Given the description of an element on the screen output the (x, y) to click on. 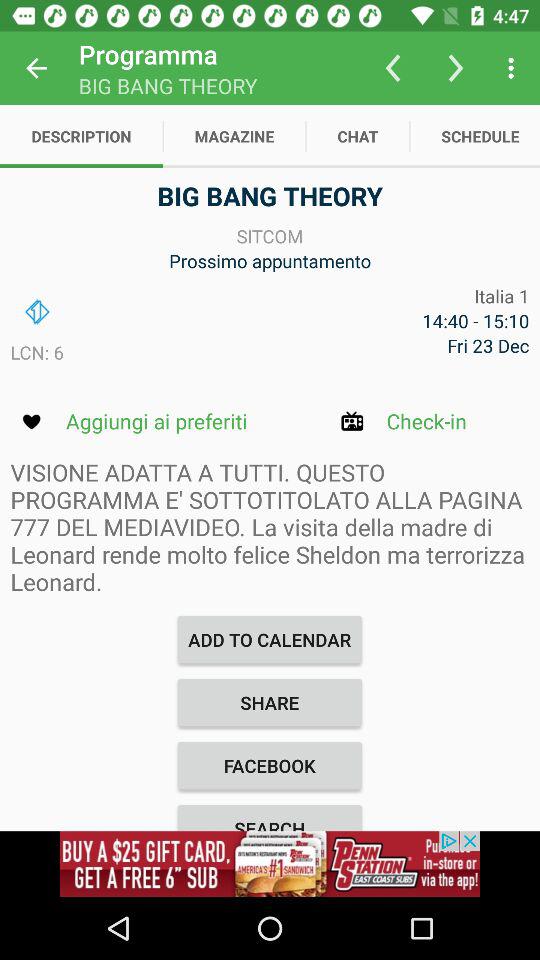
advertisement image (270, 864)
